Given the description of an element on the screen output the (x, y) to click on. 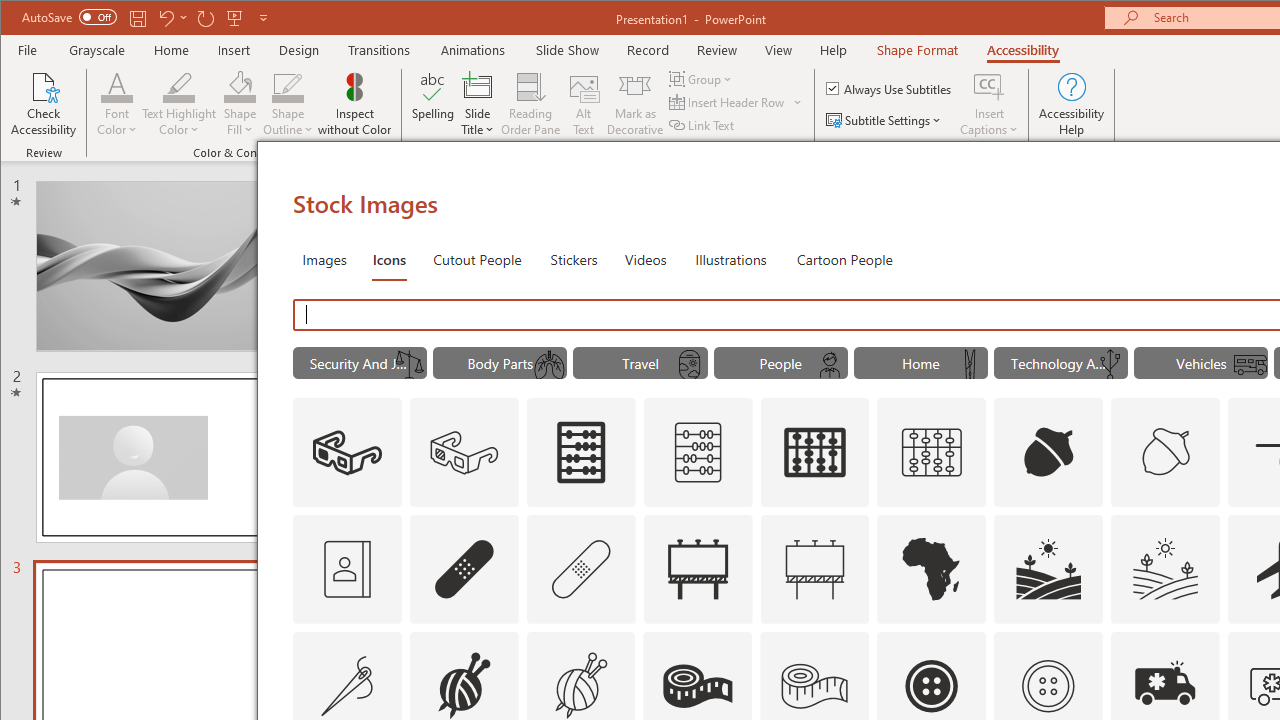
AutomationID: Icons_Rv_M (1249, 365)
Insert Header Row (735, 101)
AutomationID: Icons_Acorn (1048, 452)
Mark as Decorative (635, 104)
AutomationID: Icons_Abacus (580, 452)
"Vehicles" Icons. (1201, 362)
AutomationID: Icons_Abacus1 (815, 452)
AutomationID: Icons (1048, 686)
AutomationID: Icons_Abacus_M (697, 452)
"People" Icons. (780, 362)
AutomationID: Icons_Advertising_M (815, 568)
